Given the description of an element on the screen output the (x, y) to click on. 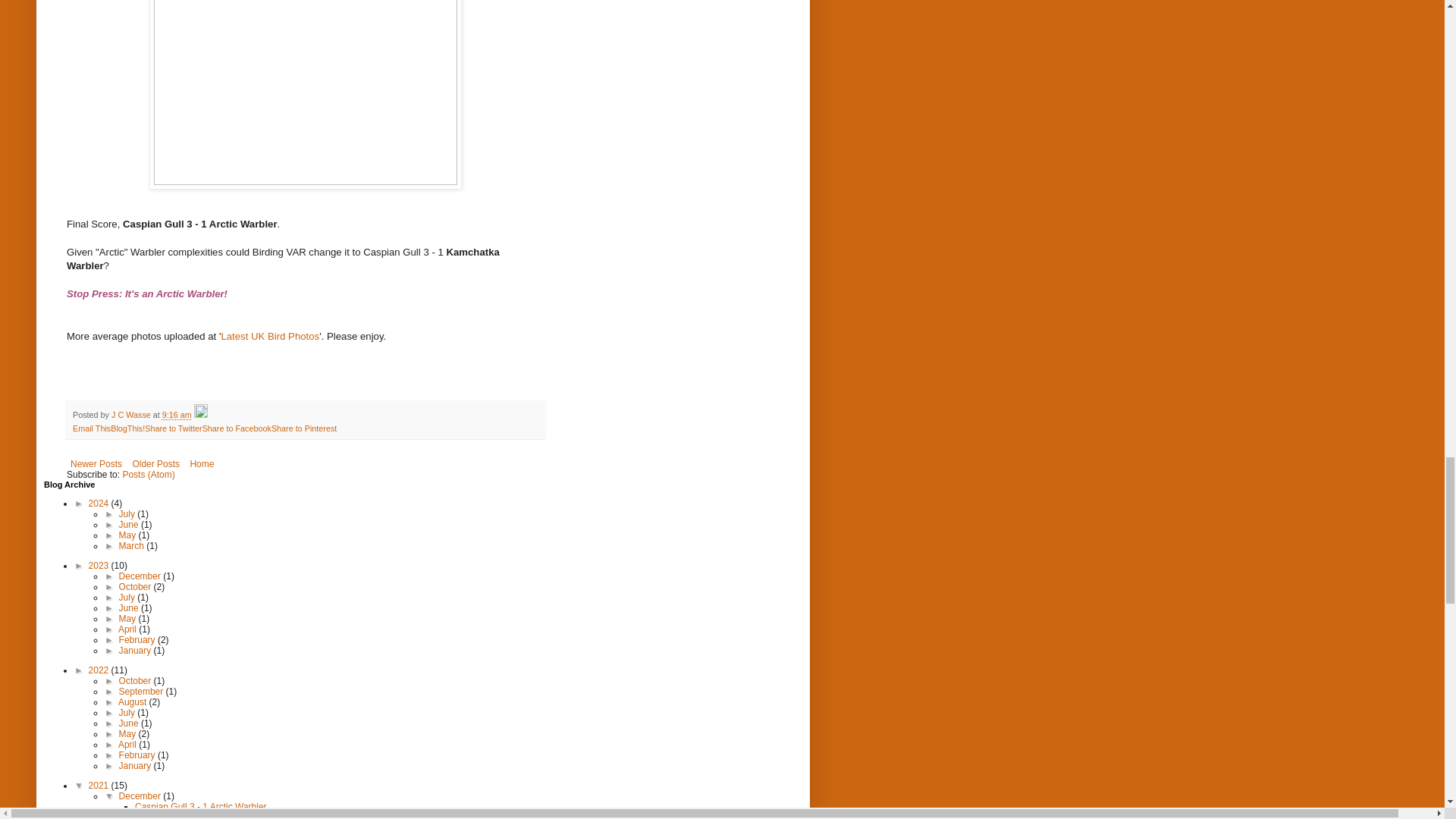
Edit Post (200, 414)
Email This (91, 428)
author profile (132, 414)
Share to Twitter (173, 428)
Share to Twitter (173, 428)
Older Posts (155, 464)
Latest UK Bird Photos (269, 336)
Share to Pinterest (303, 428)
Share to Pinterest (303, 428)
Home (201, 464)
Older Posts (155, 464)
Newer Posts (95, 464)
permanent link (176, 414)
Share to Facebook (236, 428)
BlogThis! (127, 428)
